Given the description of an element on the screen output the (x, y) to click on. 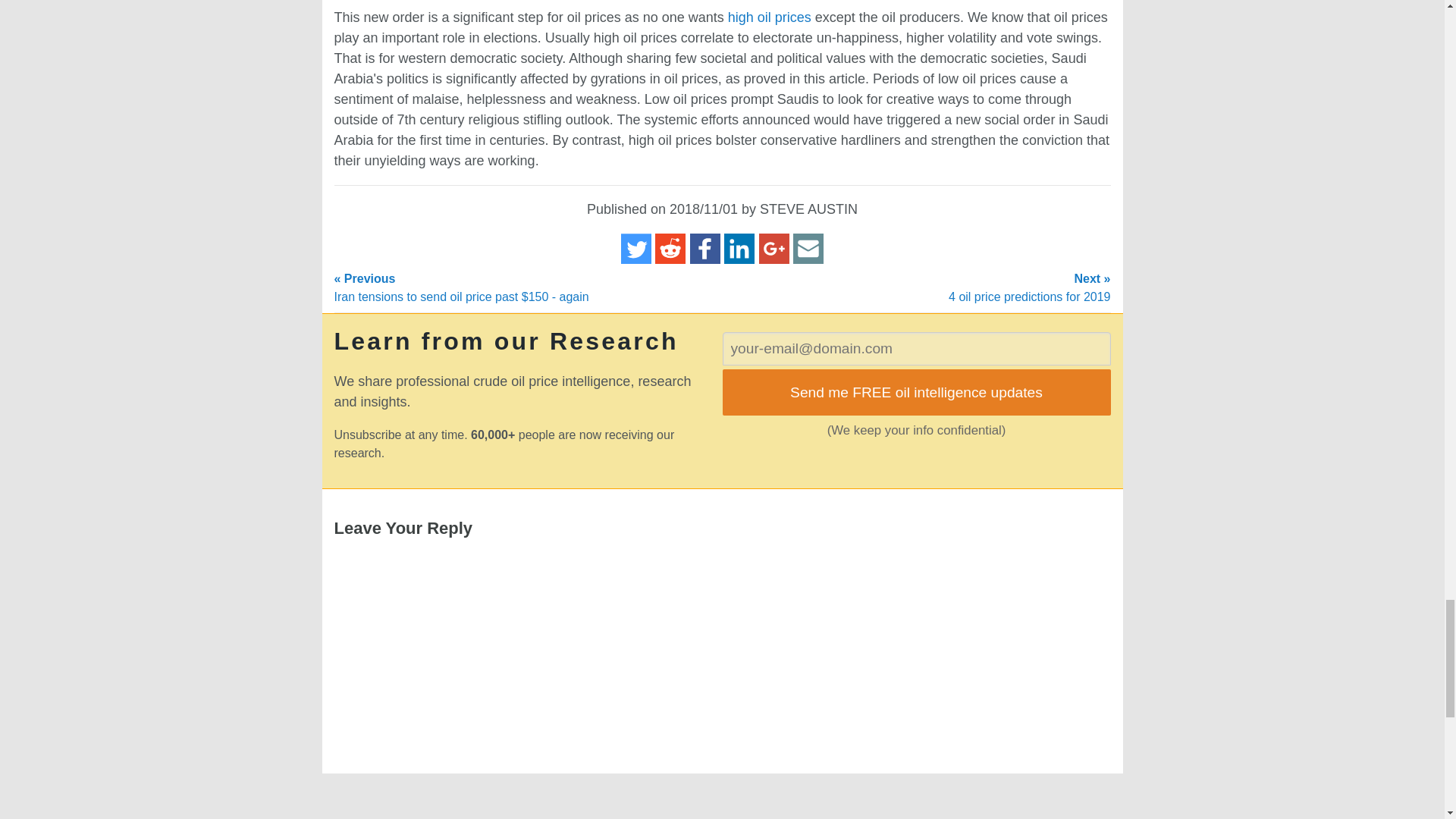
Send me FREE oil intelligence updates (915, 391)
high oil prices (769, 17)
